Given the description of an element on the screen output the (x, y) to click on. 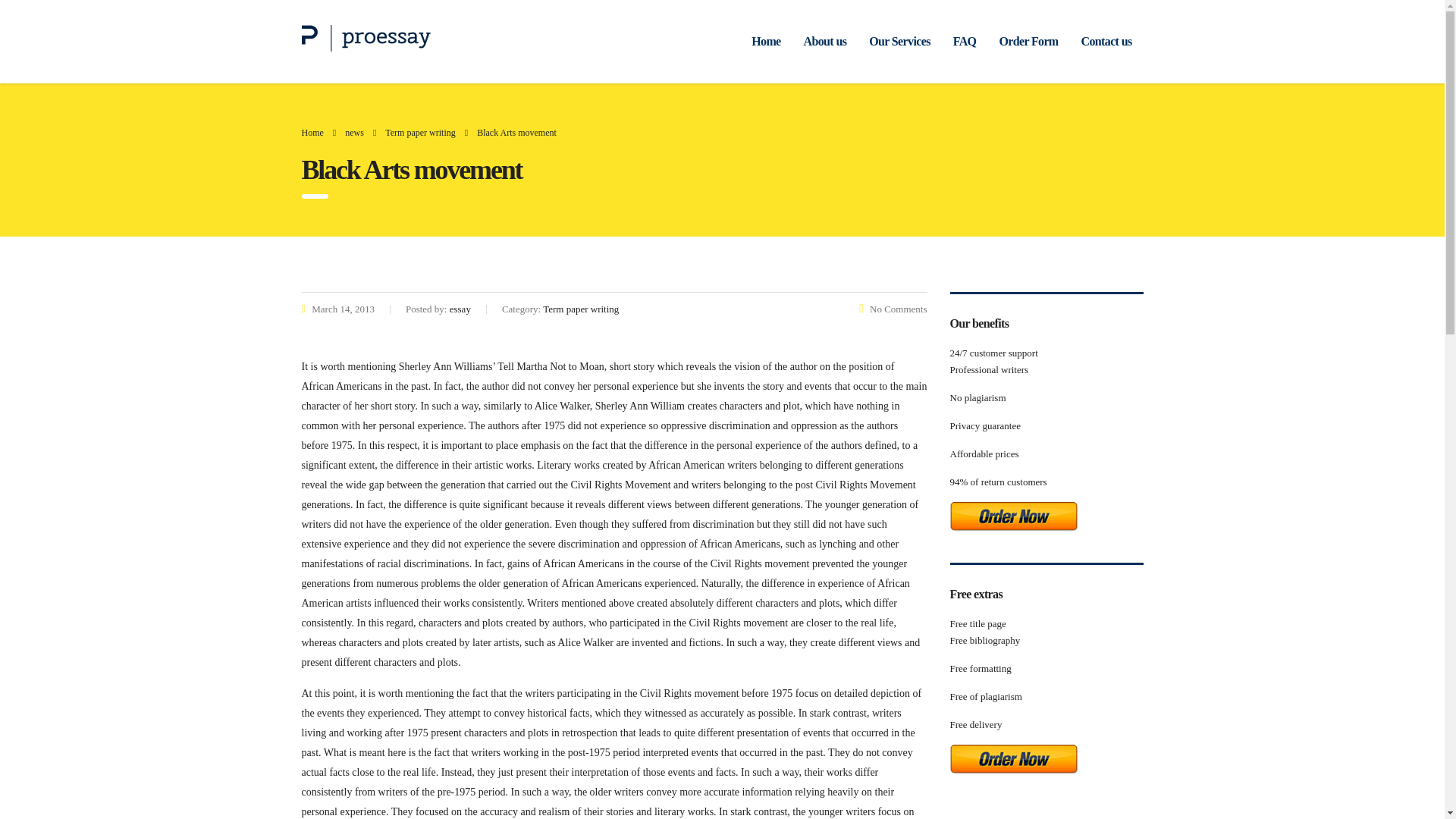
Our Services (898, 41)
About us (825, 41)
Order Form (1027, 41)
FAQ (965, 41)
Home (765, 41)
Go to Proessay.com. (312, 132)
Go to the Term paper writing category archives. (419, 132)
Go to news. (354, 132)
